Given the description of an element on the screen output the (x, y) to click on. 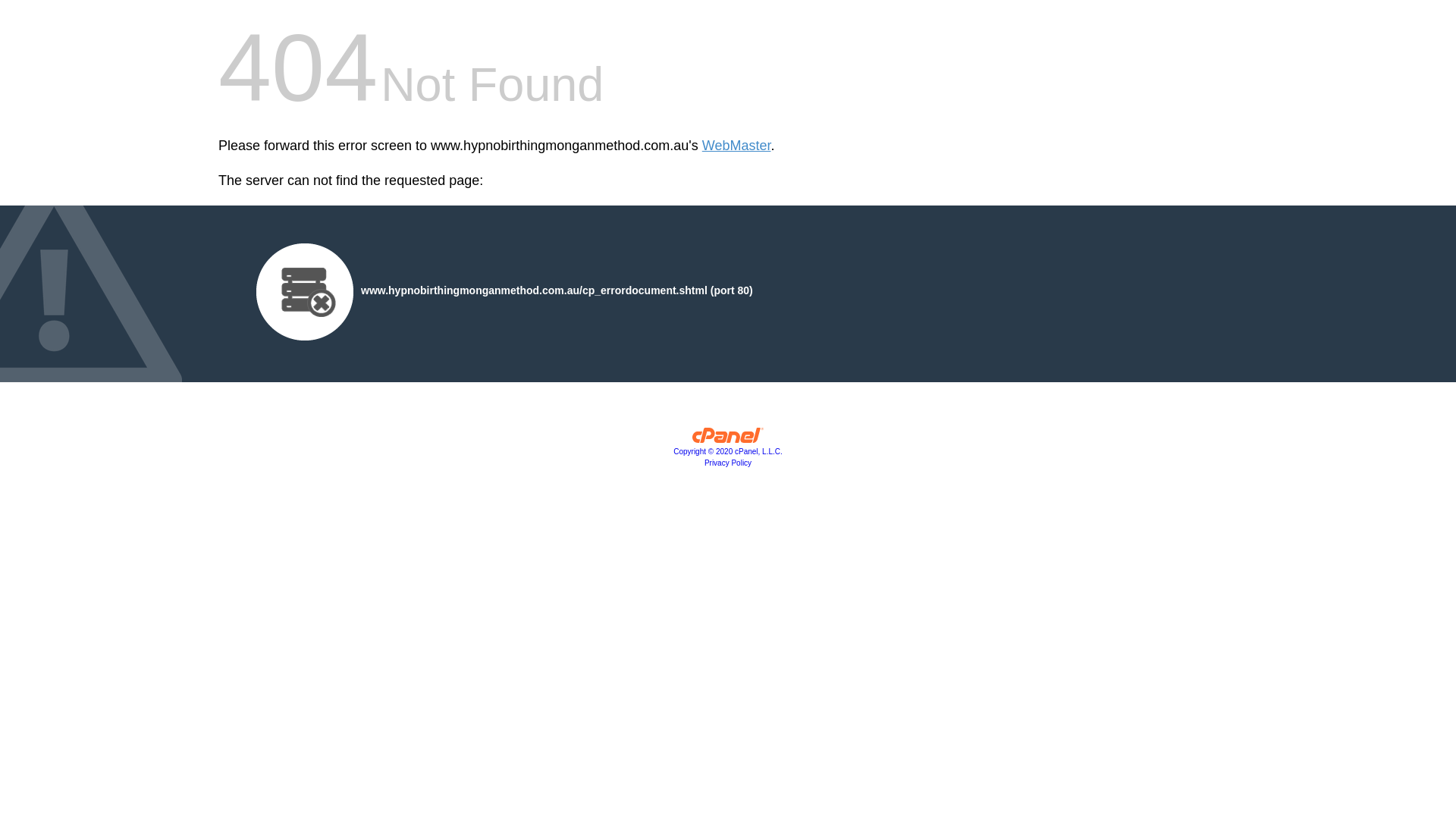
Privacy Policy Element type: text (727, 462)
cPanel, Inc. Element type: hover (728, 439)
WebMaster Element type: text (736, 145)
